Given the description of an element on the screen output the (x, y) to click on. 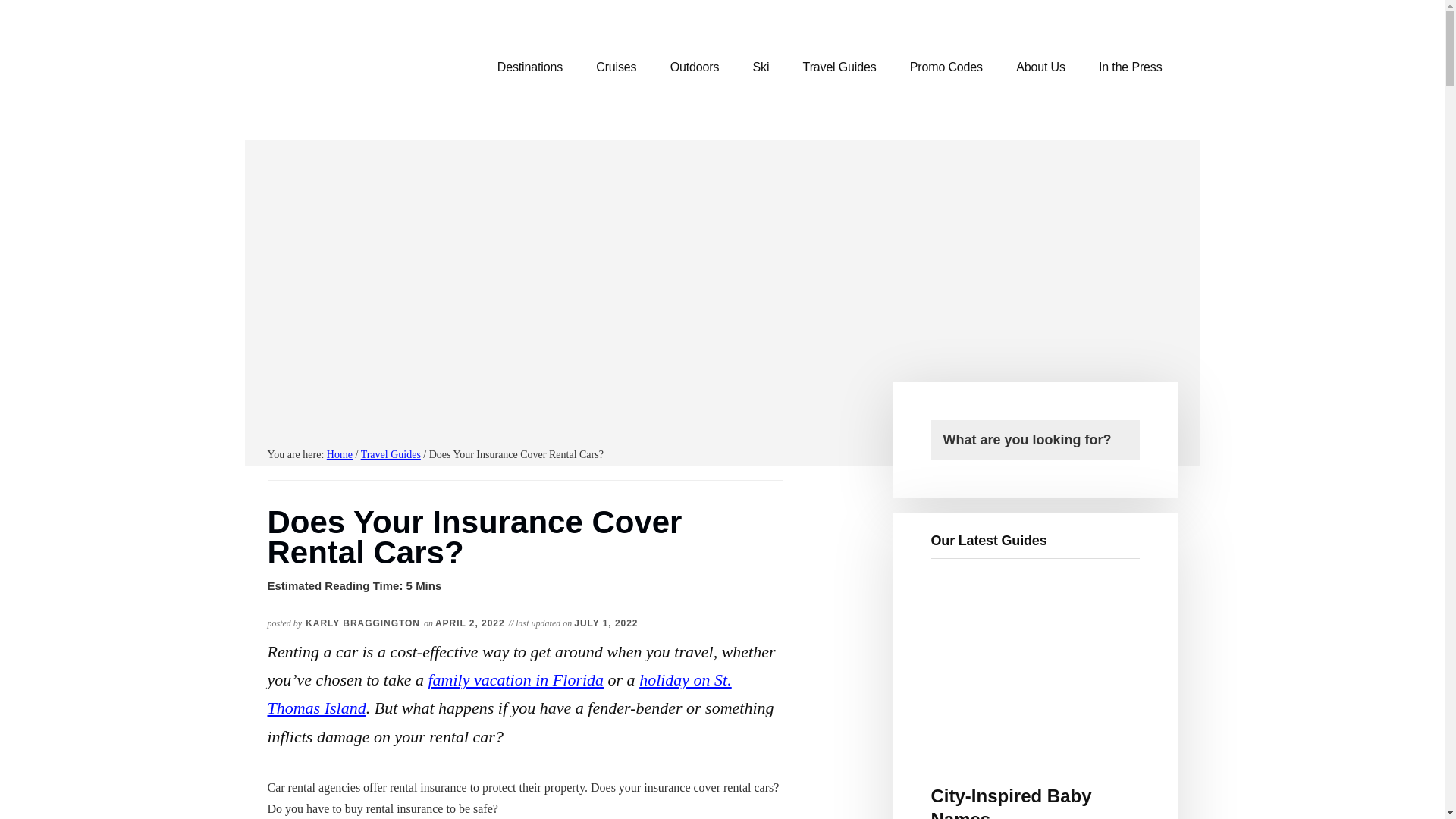
Destinations (529, 66)
